Given the description of an element on the screen output the (x, y) to click on. 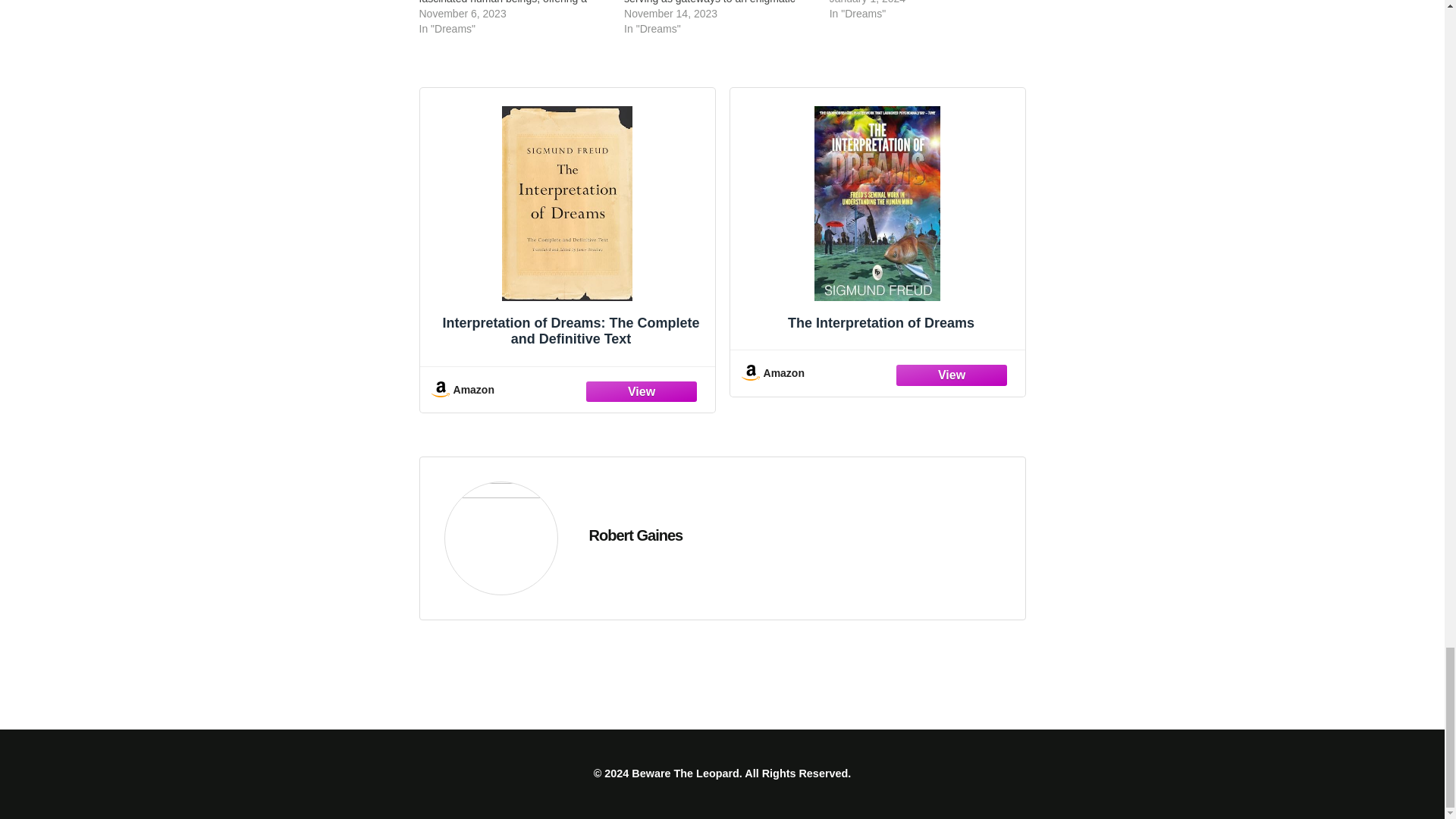
Amazon (566, 389)
Amazon (877, 373)
Interpretation of Dreams: The Complete and Definitive Text (567, 230)
The Interpretation of Dreams (876, 221)
